Given the description of an element on the screen output the (x, y) to click on. 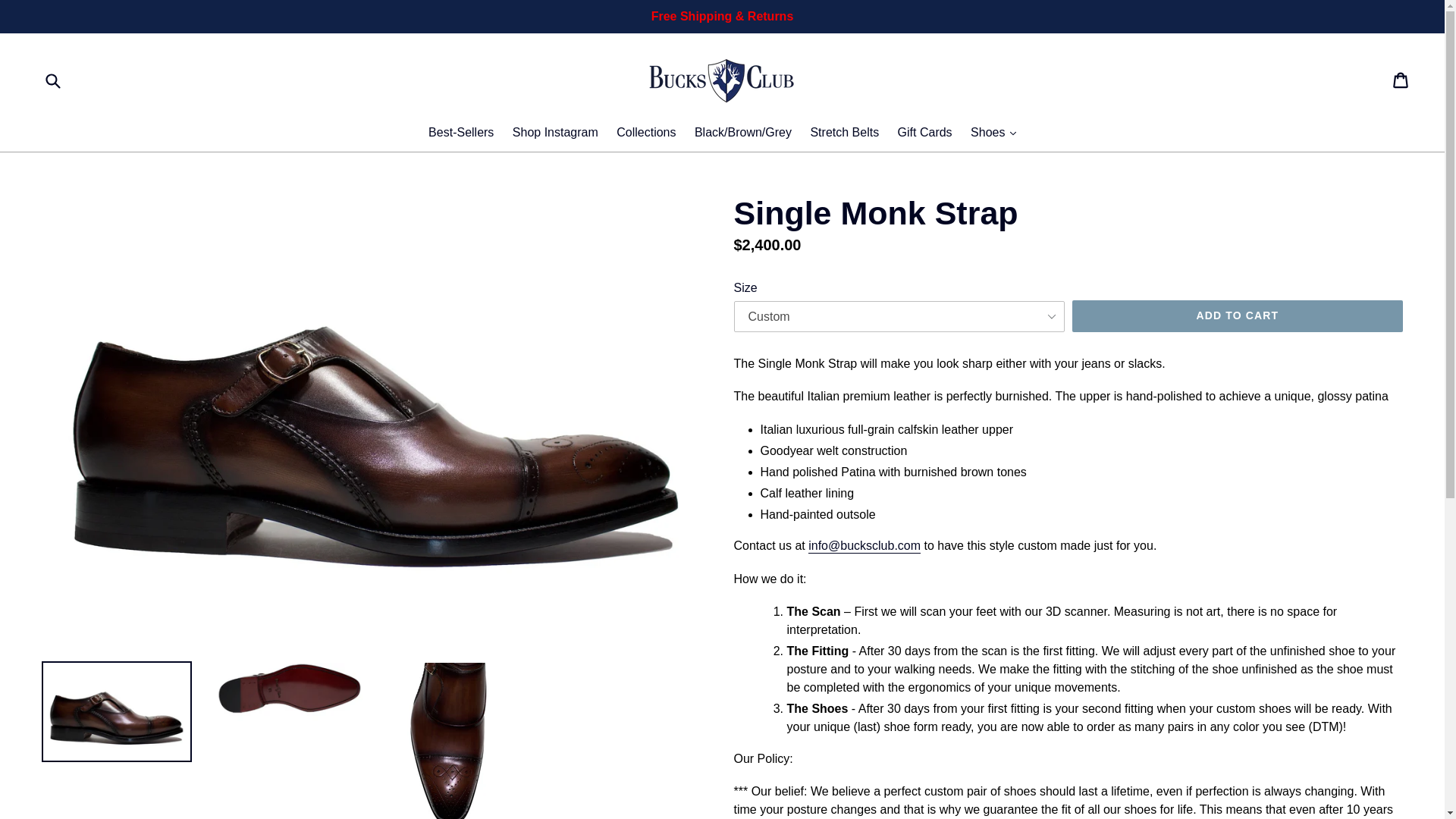
ADD TO CART (1237, 316)
Stretch Belts (844, 133)
Collections (645, 133)
Gift Cards (924, 133)
Shop Instagram (555, 133)
Best-Sellers (460, 133)
